Given the description of an element on the screen output the (x, y) to click on. 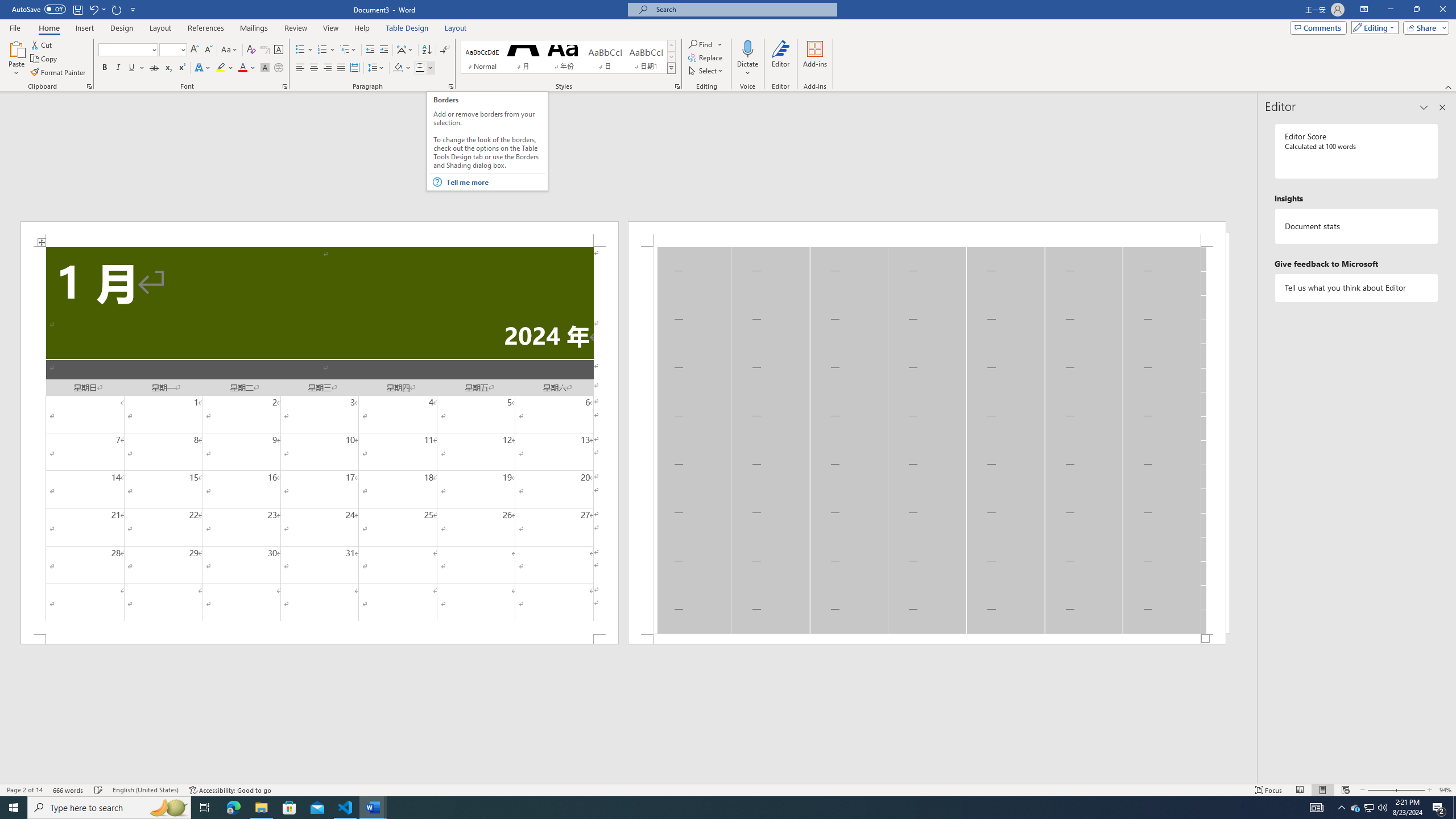
Styles... (676, 85)
Text Highlight Color (224, 67)
Accessibility Checker Accessibility: Good to go (230, 790)
Header -Section 1- (926, 233)
Bold (104, 67)
Mode (1372, 27)
Shrink Font (208, 49)
Increase Indent (383, 49)
